Given the description of an element on the screen output the (x, y) to click on. 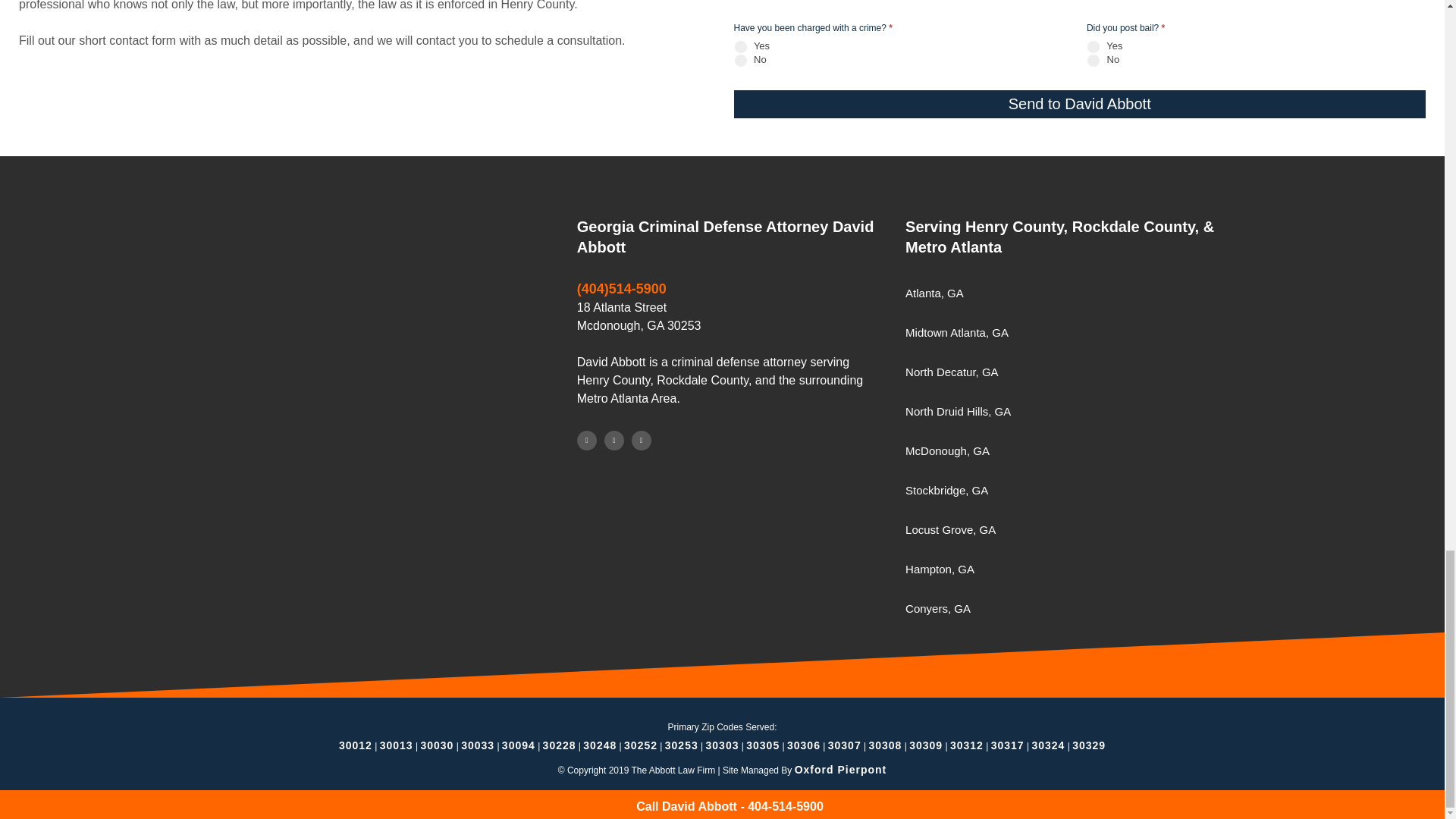
No (1093, 59)
Yes (740, 46)
No (740, 59)
Yes (1093, 46)
